Given the description of an element on the screen output the (x, y) to click on. 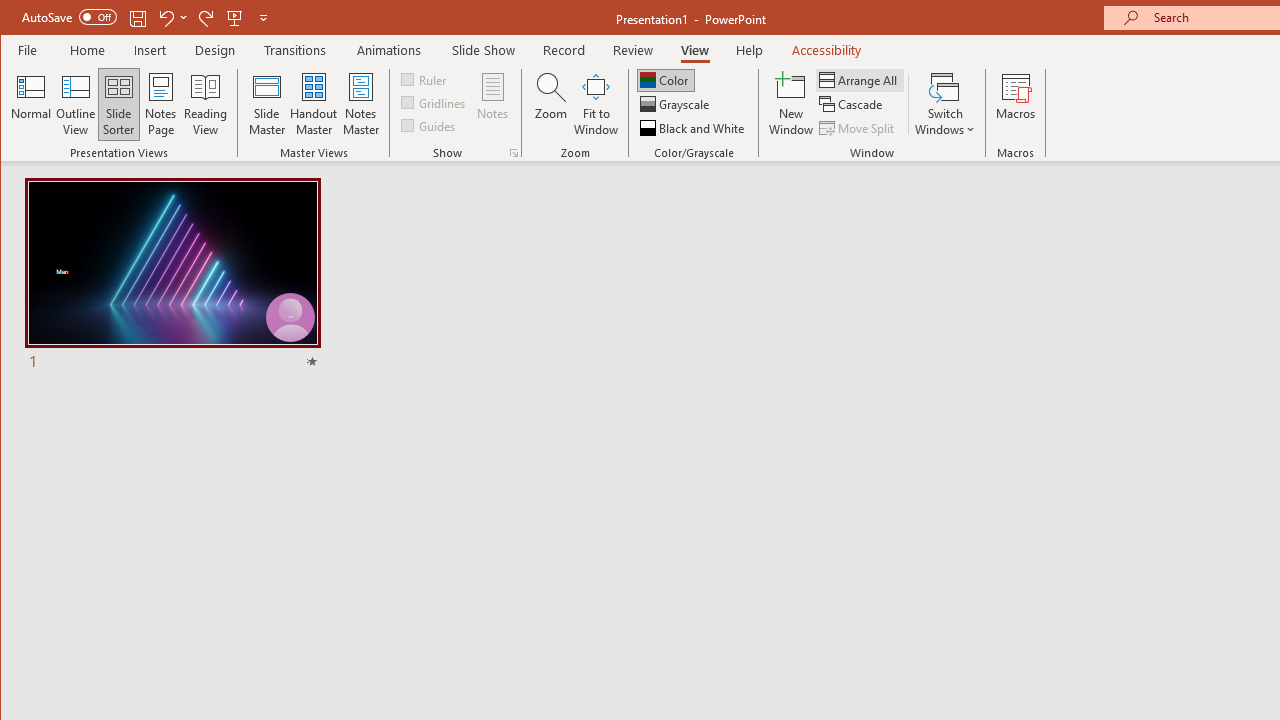
Grayscale (676, 103)
Arrange All (859, 80)
Zoom... (550, 104)
Macros (1016, 104)
Black and White (694, 127)
Outline View (75, 104)
Cascade (852, 103)
Fit to Window (596, 104)
Move Split (858, 127)
